Given the description of an element on the screen output the (x, y) to click on. 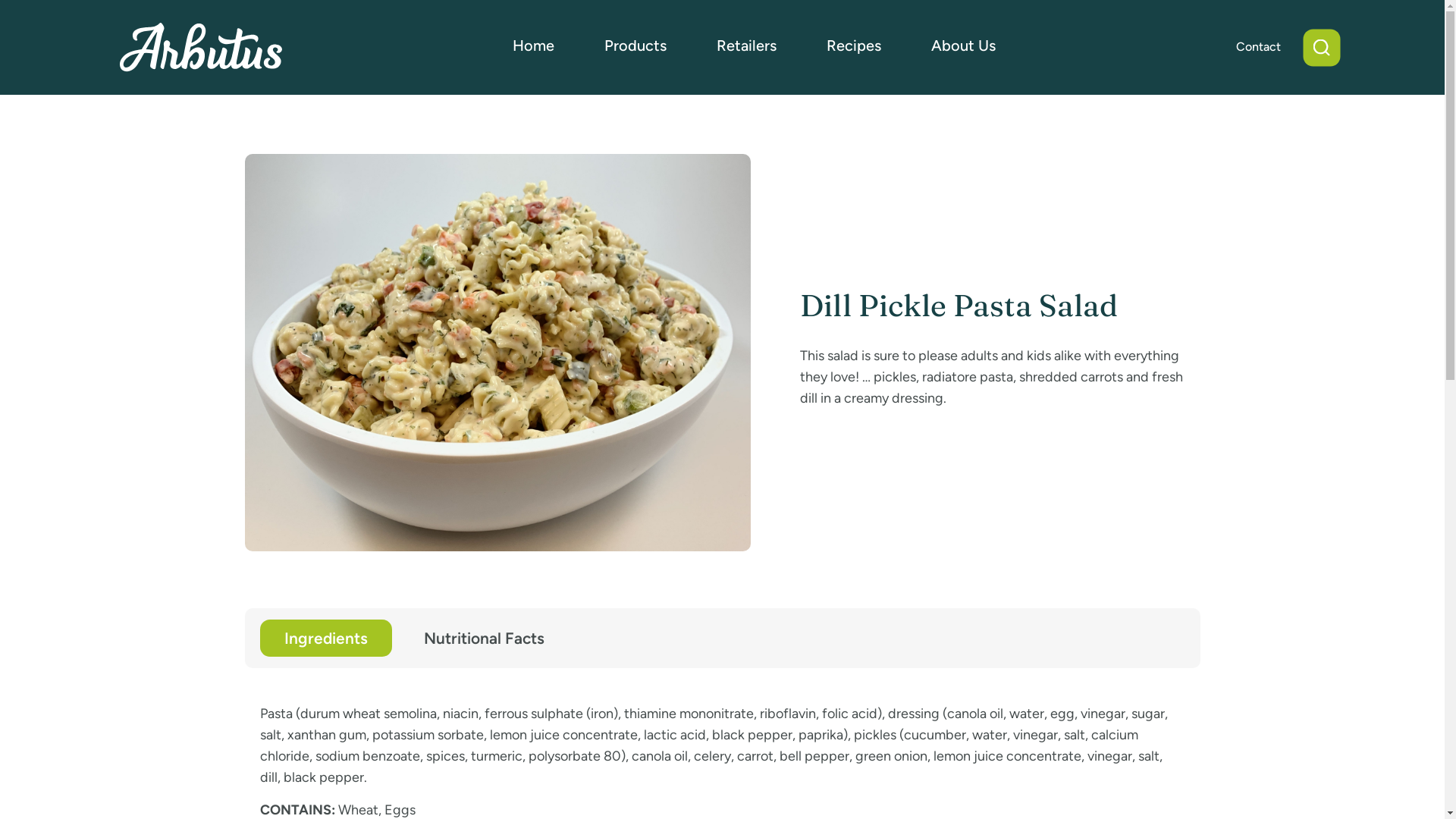
Home Element type: text (533, 47)
Nutritional Facts Element type: text (482, 637)
Retailers Element type: text (746, 47)
Ingredients Element type: text (325, 637)
Recipes Element type: text (853, 47)
Contact Element type: text (1257, 47)
Products Element type: text (635, 47)
About Us Element type: text (963, 47)
